Given the description of an element on the screen output the (x, y) to click on. 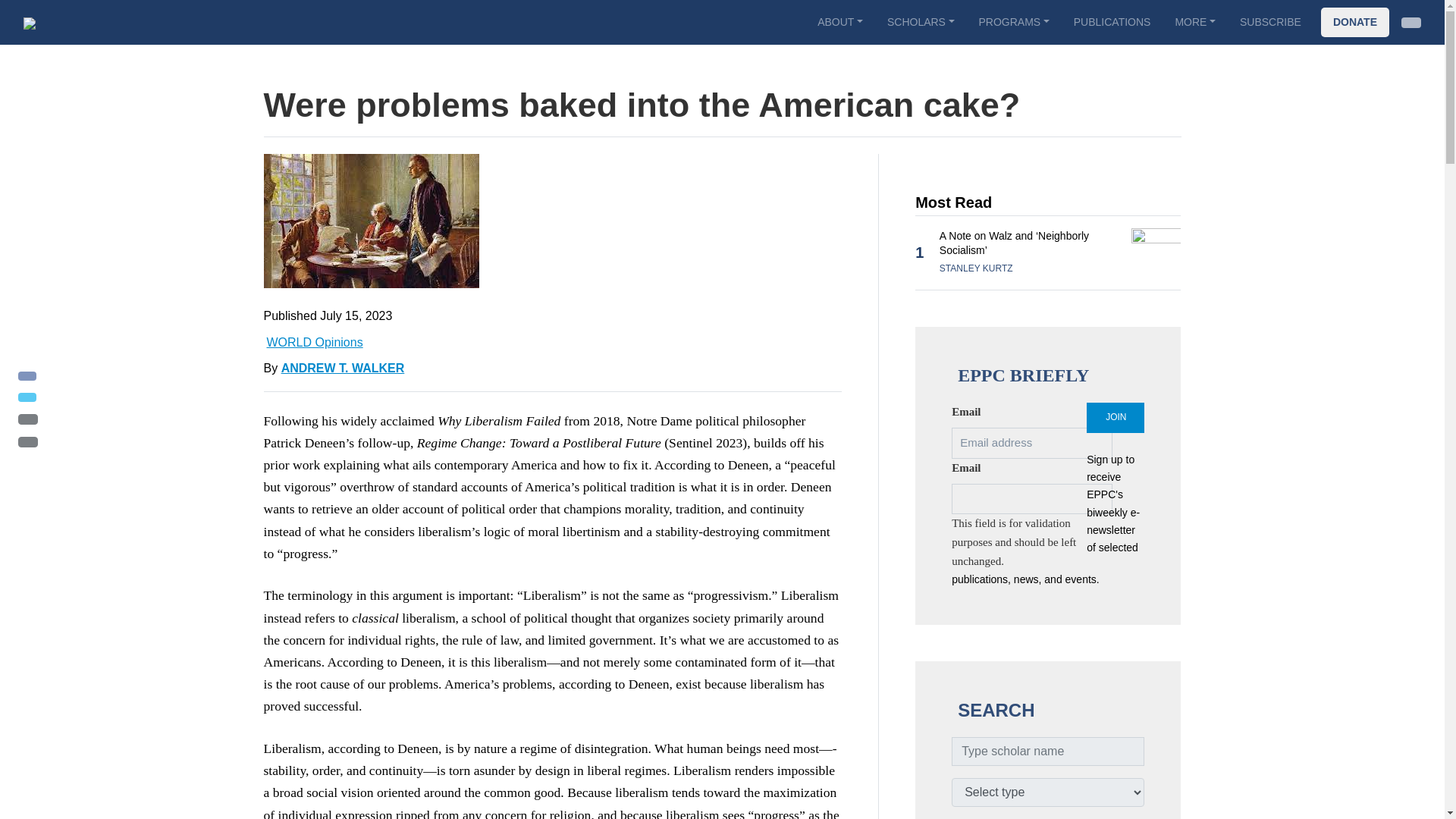
SCHOLARS (920, 21)
ABOUT (840, 21)
JOIN (1115, 417)
